Given the description of an element on the screen output the (x, y) to click on. 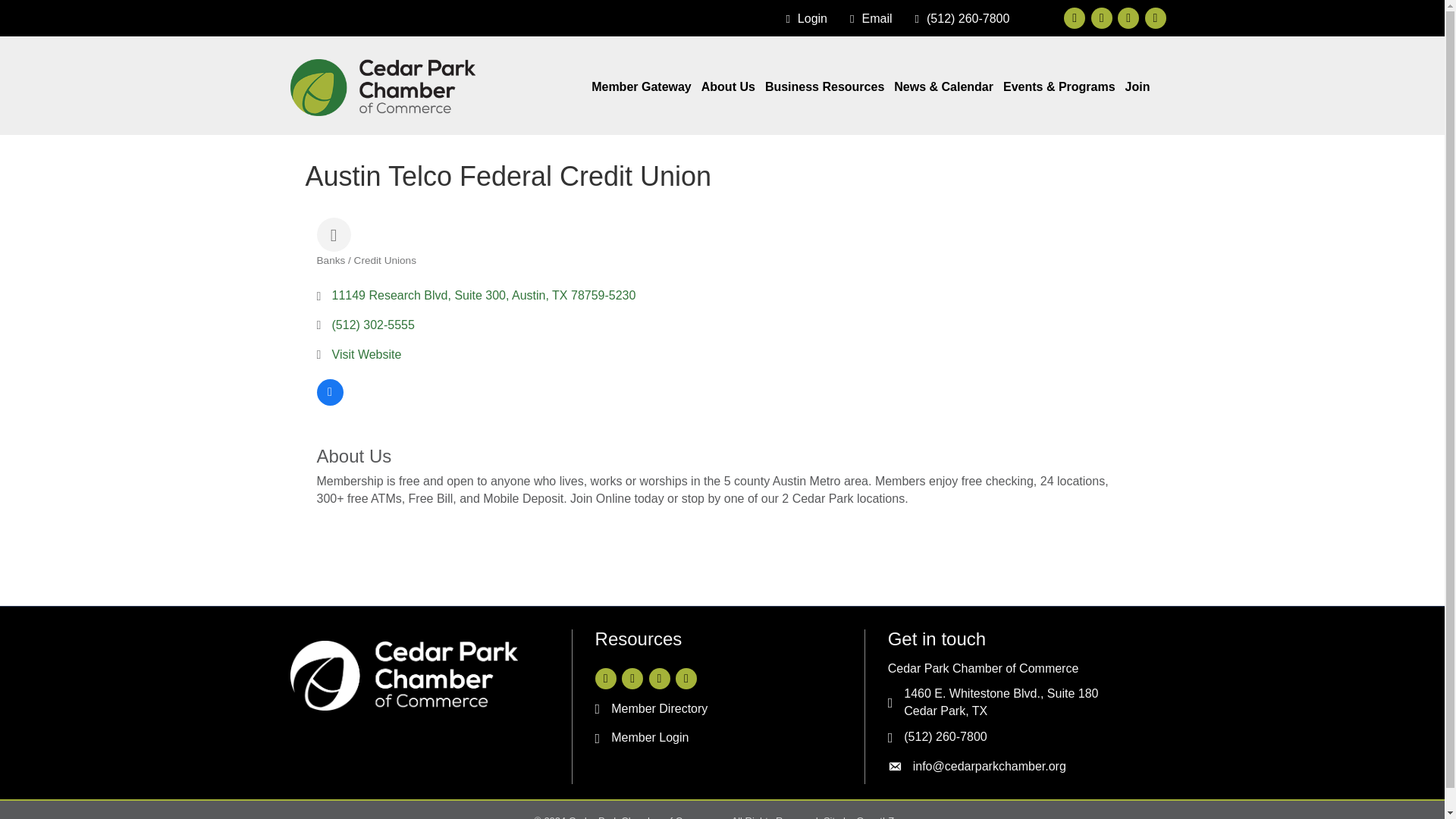
Member Gateway (640, 86)
About Us (728, 86)
View on Facebook (330, 400)
Business Resources (824, 86)
Email (867, 18)
Login (802, 18)
